Given the description of an element on the screen output the (x, y) to click on. 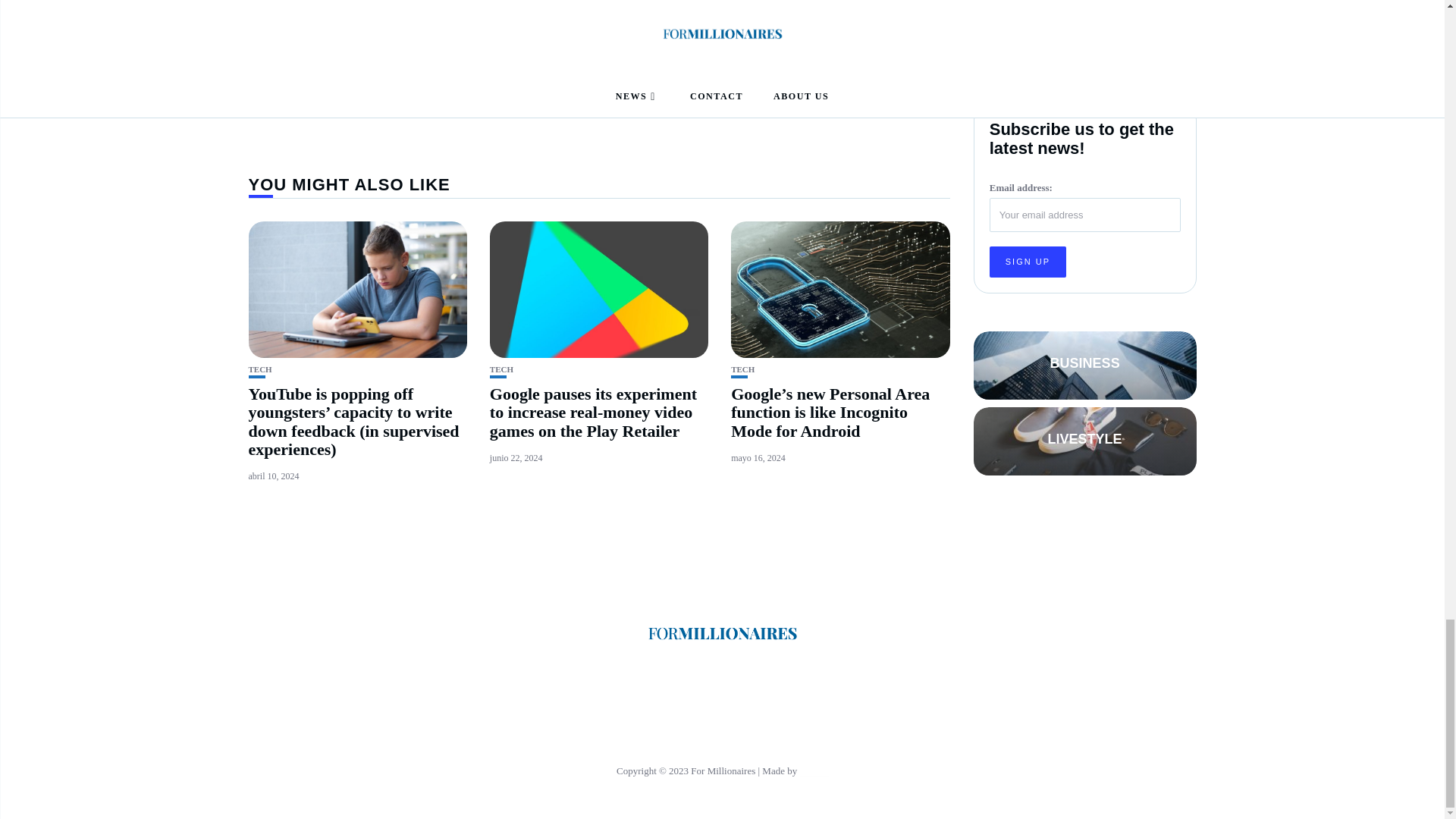
TECH (501, 369)
TECH (260, 369)
